Given the description of an element on the screen output the (x, y) to click on. 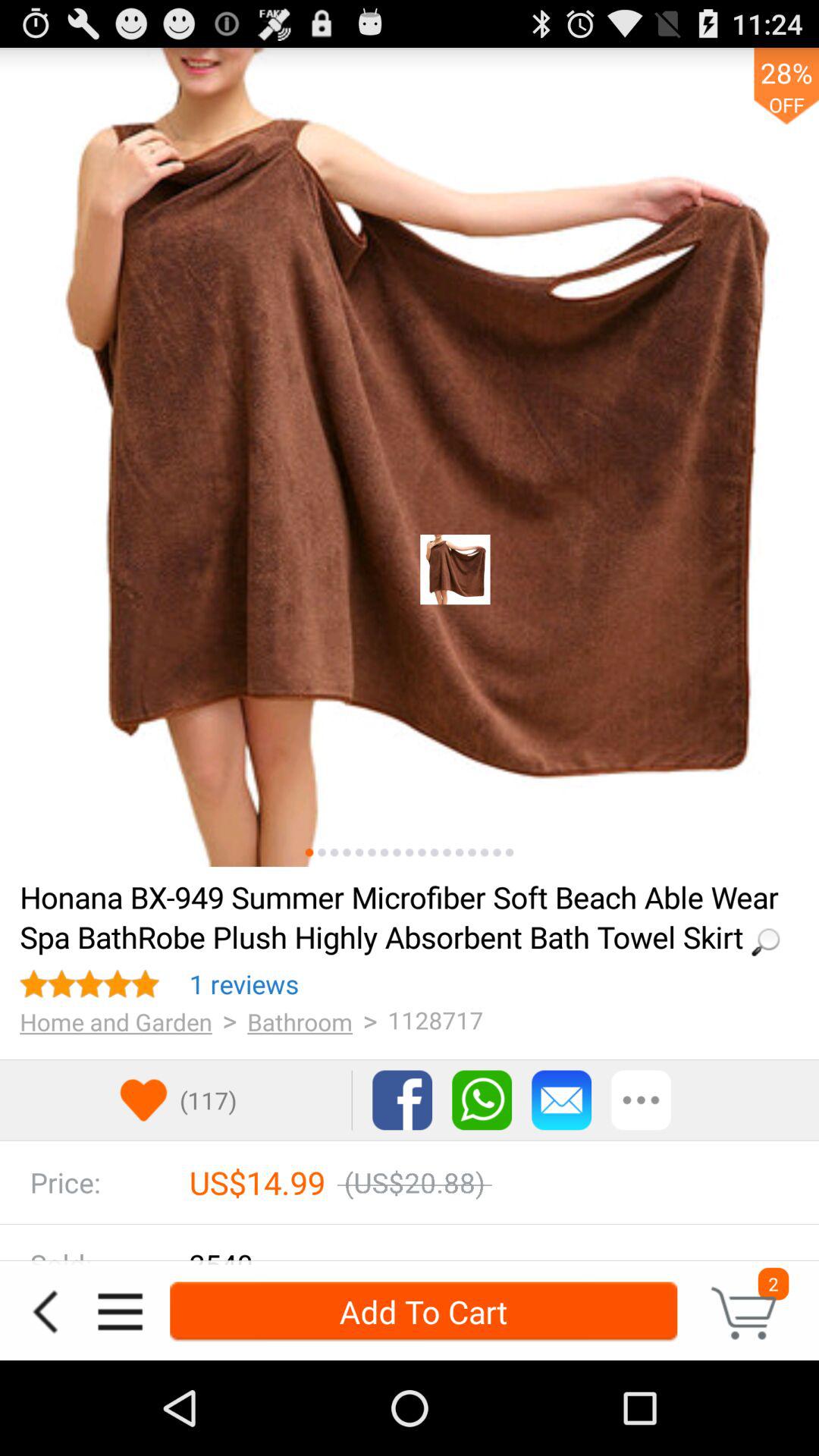
toggle first slide (309, 852)
